Given the description of an element on the screen output the (x, y) to click on. 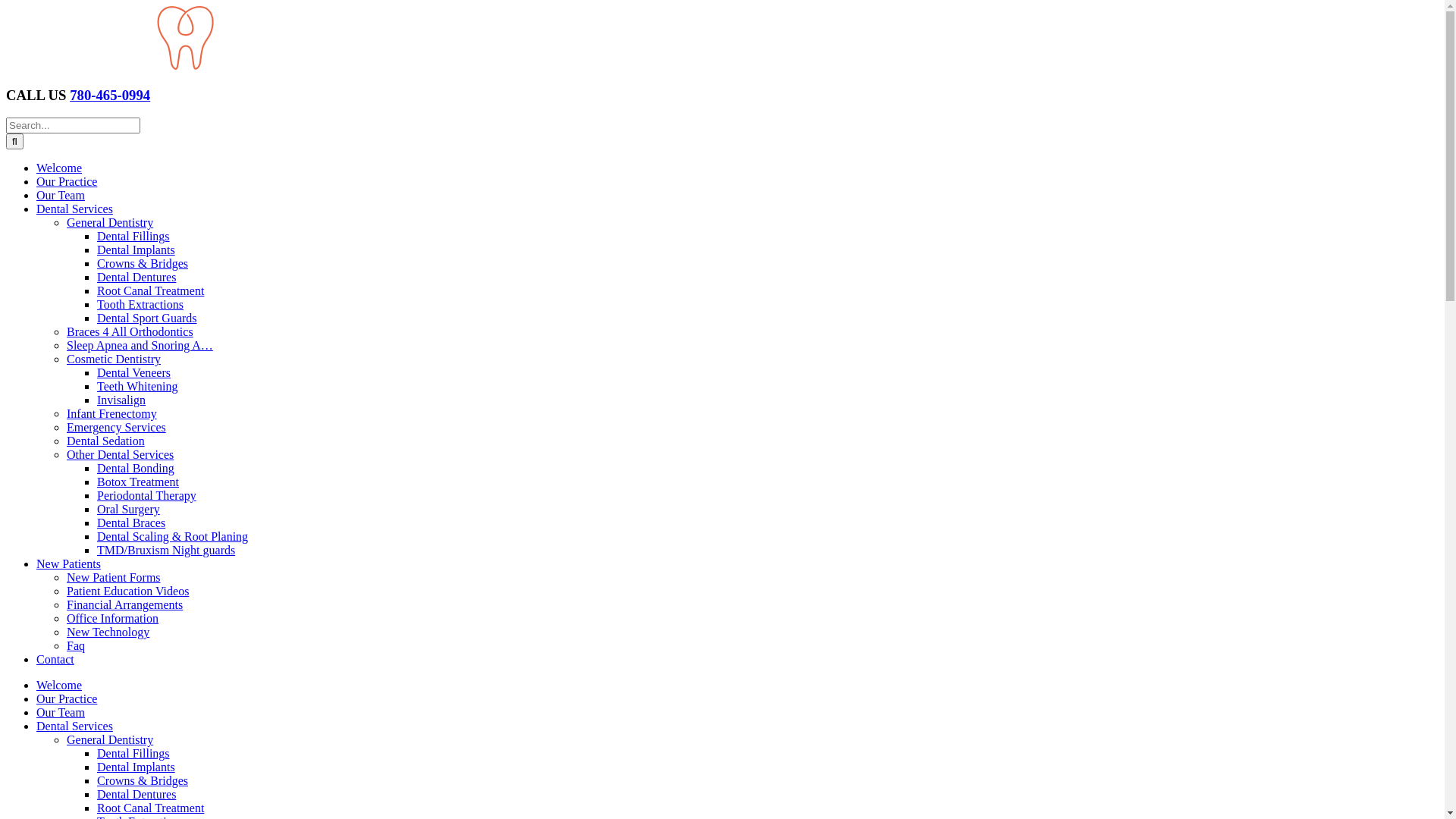
Emergency Services Element type: text (116, 426)
New Technology Element type: text (107, 631)
Periodontal Therapy Element type: text (146, 495)
Our Practice Element type: text (66, 181)
Welcome Element type: text (58, 167)
780-465-0994 Element type: text (109, 95)
Other Dental Services Element type: text (119, 454)
Dental Fillings Element type: text (133, 235)
Invisalign Element type: text (121, 399)
General Dentistry Element type: text (109, 222)
TMD/Bruxism Night guards Element type: text (166, 549)
Dental Sedation Element type: text (105, 440)
Braces 4 All Orthodontics Element type: text (129, 331)
Our Practice Element type: text (66, 698)
Our Team Element type: text (60, 712)
New Patients Element type: text (68, 563)
Crowns & Bridges Element type: text (142, 780)
Financial Arrangements Element type: text (124, 604)
Dental Implants Element type: text (136, 249)
Office Information Element type: text (112, 617)
Our Team Element type: text (60, 194)
Skip to content Element type: text (5, 5)
Teeth Whitening Element type: text (137, 385)
Oral Surgery Element type: text (128, 508)
General Dentistry Element type: text (109, 739)
Contact Element type: text (55, 658)
Crowns & Bridges Element type: text (142, 263)
Root Canal Treatment Element type: text (150, 290)
Patient Education Videos Element type: text (127, 590)
Dental Veneers Element type: text (133, 372)
Dental Braces Element type: text (131, 522)
Welcome Element type: text (58, 684)
Cosmetic Dentistry Element type: text (113, 358)
Root Canal Treatment Element type: text (150, 807)
Dental Scaling & Root Planing Element type: text (172, 536)
Dental Services Element type: text (74, 208)
Dental Sport Guards Element type: text (147, 317)
Dental Bonding Element type: text (135, 467)
Dental Fillings Element type: text (133, 752)
Dental Services Element type: text (74, 725)
New Patient Forms Element type: text (113, 577)
Dental Implants Element type: text (136, 766)
Infant Frenectomy Element type: text (111, 413)
Botox Treatment Element type: text (137, 481)
Dental Dentures Element type: text (136, 793)
Faq Element type: text (75, 645)
Dental Dentures Element type: text (136, 276)
Tooth Extractions Element type: text (140, 304)
